Given the description of an element on the screen output the (x, y) to click on. 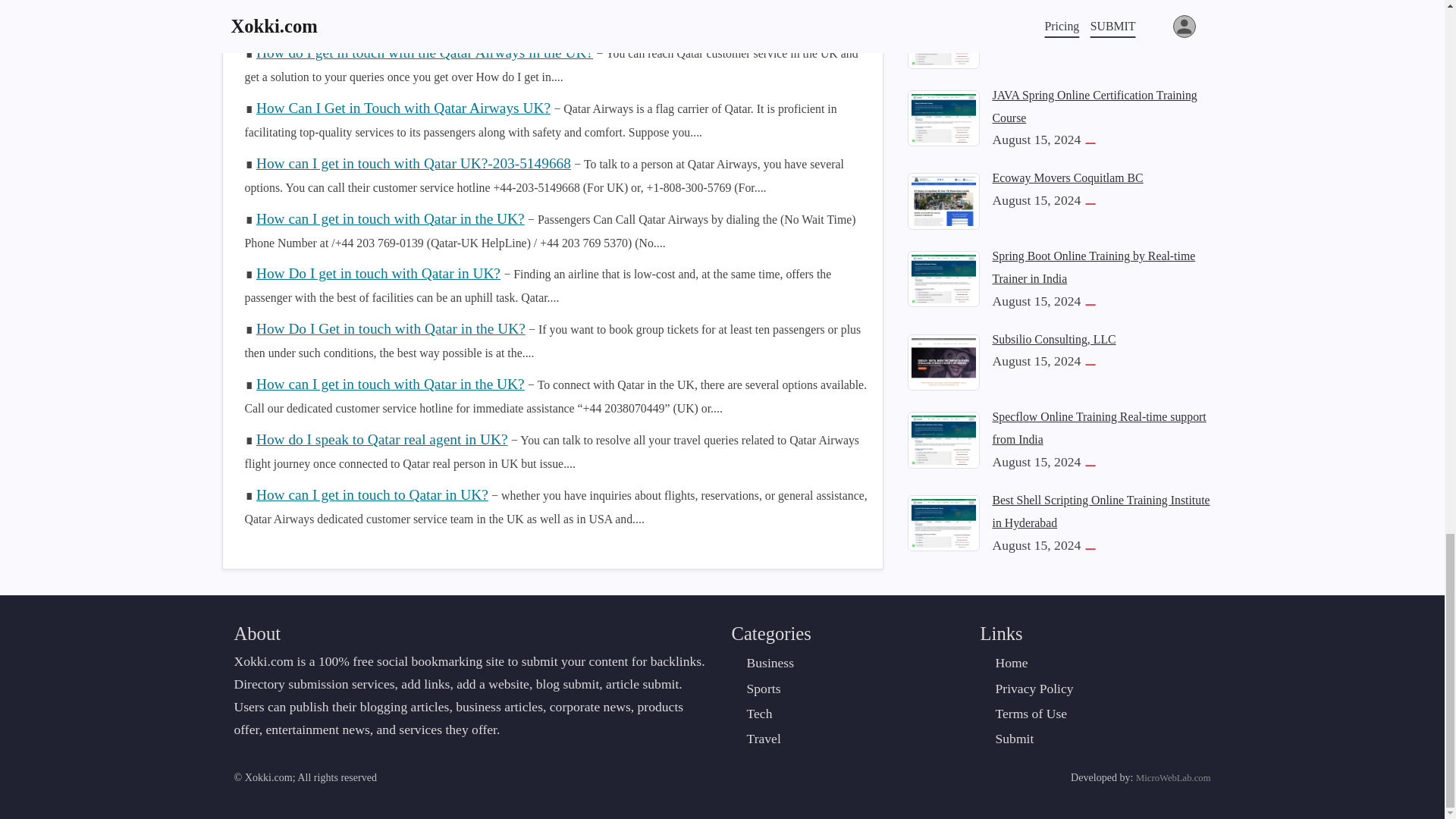
How do I get in touch with the Qatar Airways in the UK? (424, 52)
How can I get in touch with Qatar UK?-203-5149668 (413, 163)
How can I get in touch with Qatar in the UK? (390, 383)
How do I speak to Qatar real agent in UK? (382, 439)
How can I get in touch with Qatar in the UK? (390, 218)
How Can I Get in Touch with Qatar Airways UK? (403, 107)
How Do I get in touch with Qatar in UK? (378, 273)
How can I get in touch to Qatar in UK? (371, 494)
How Do I Get in touch with Qatar in the UK? (390, 328)
